Given the description of an element on the screen output the (x, y) to click on. 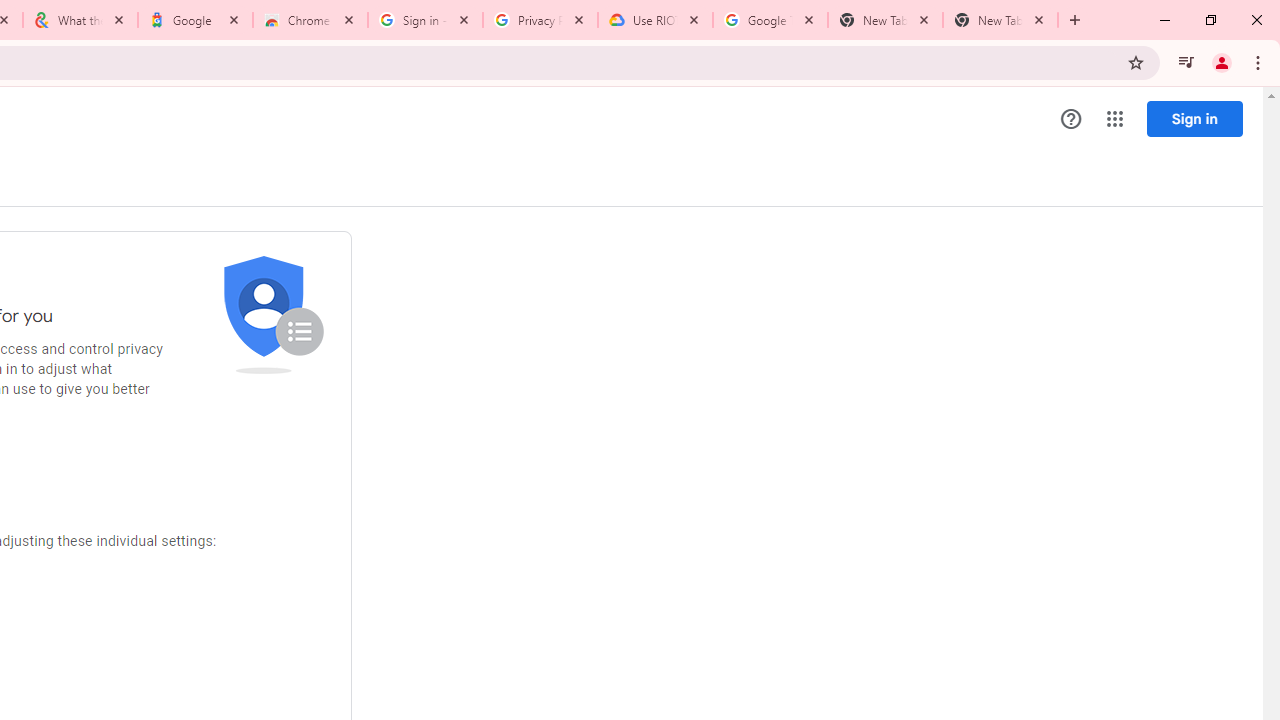
Sign in - Google Accounts (424, 20)
New Tab (1000, 20)
